Given the description of an element on the screen output the (x, y) to click on. 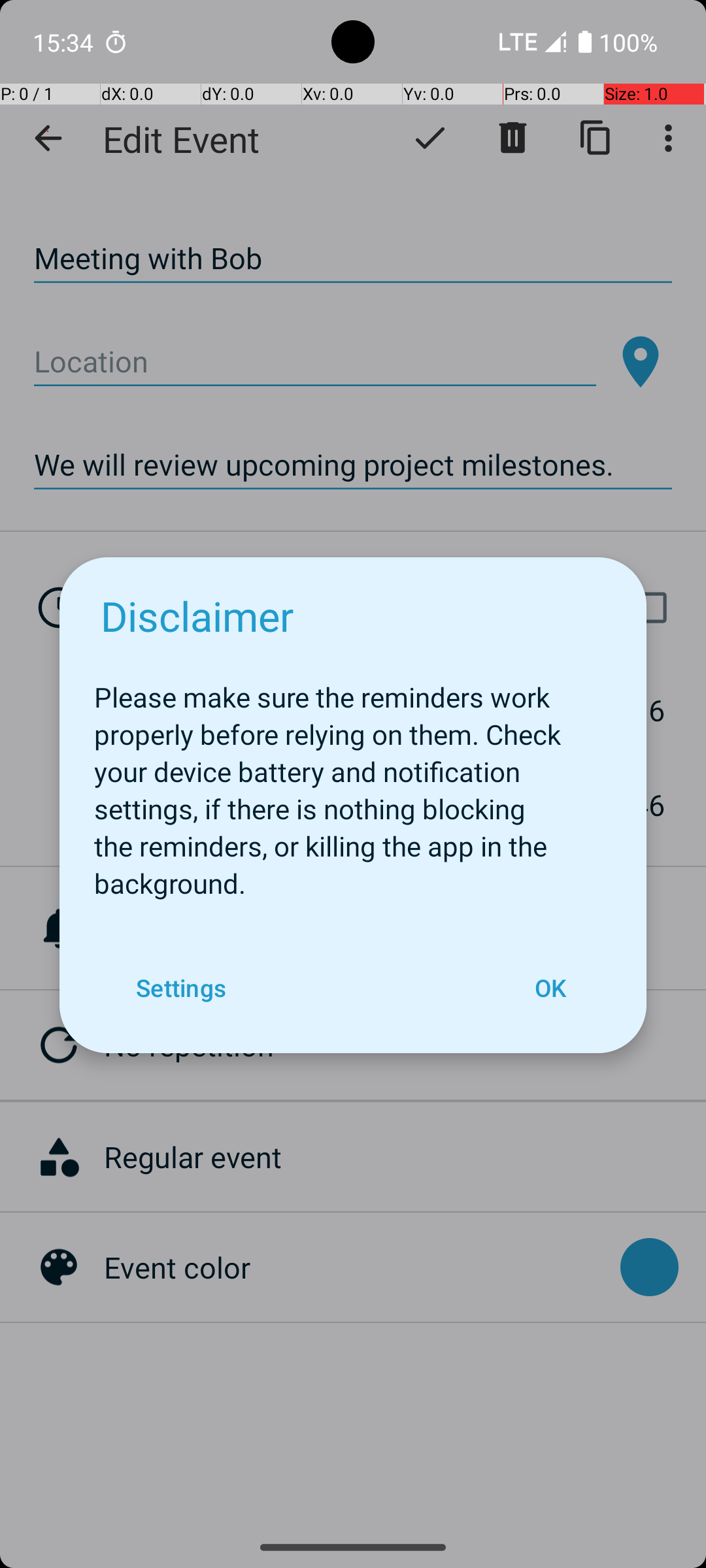
Disclaimer Element type: android.widget.TextView (196, 615)
Please make sure the reminders work properly before relying on them. Check your device battery and notification settings, if there is nothing blocking the reminders, or killing the app in the background. Element type: android.widget.TextView (352, 782)
